Given the description of an element on the screen output the (x, y) to click on. 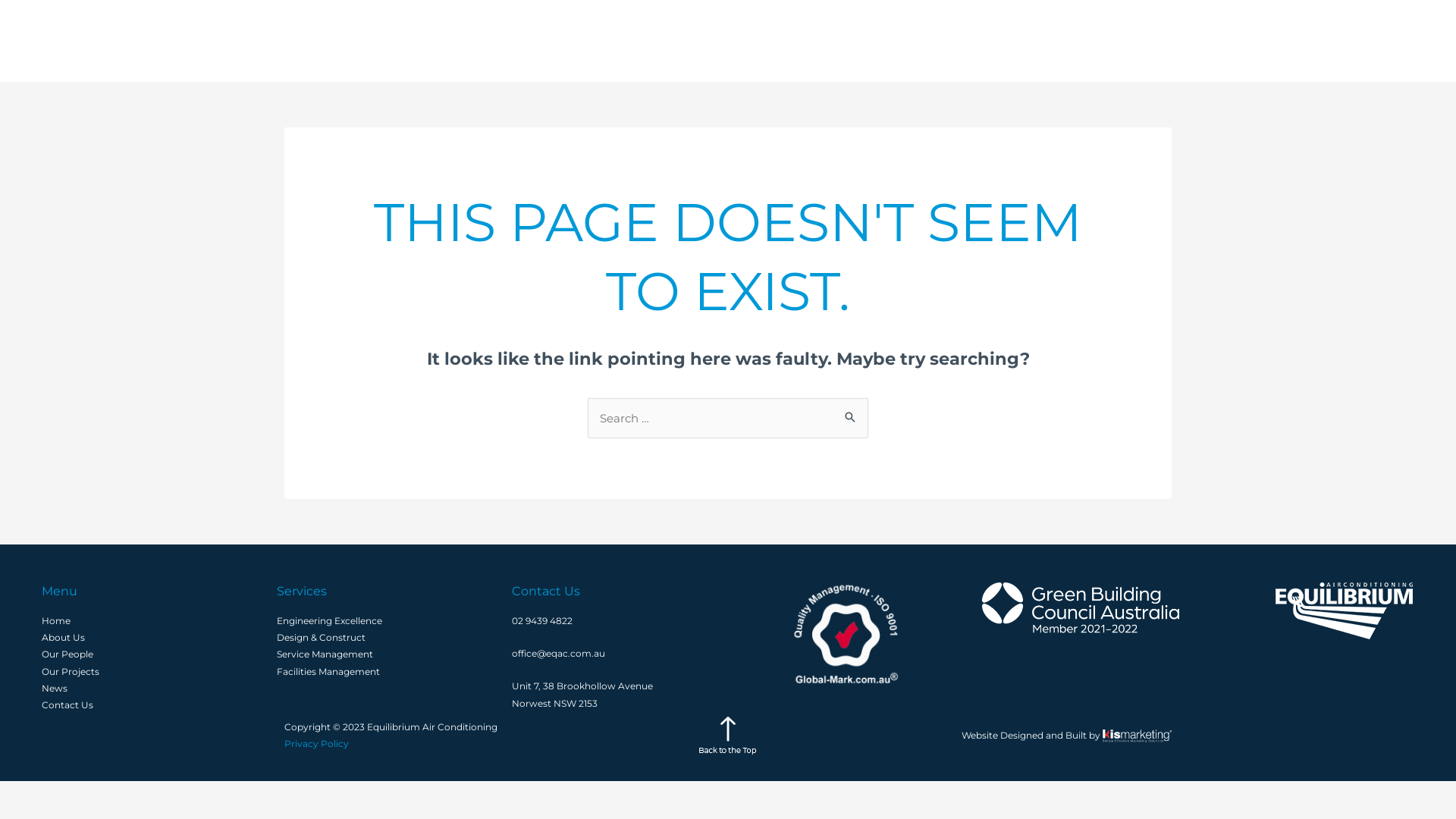
Service Management Element type: text (324, 653)
Unit 7, 38 Brookhollow Avenue Element type: text (581, 685)
News Element type: text (1285, 40)
Contact Us Element type: text (1354, 40)
office@eqac.com.au Element type: text (558, 652)
Our Projects Element type: text (1211, 40)
Search Element type: text (851, 416)
02 9439 4822 Element type: text (541, 620)
Our People Element type: text (1121, 40)
Facilities Management Element type: text (327, 671)
Home Element type: text (55, 620)
Our People Element type: text (67, 653)
About Us Element type: text (1040, 40)
Contact Us Element type: text (67, 704)
Home Element type: text (886, 40)
Engineering Excellence Element type: text (329, 620)
Privacy Policy Element type: text (316, 743)
Our Projects Element type: text (70, 671)
About Us Element type: text (62, 637)
We Offer Element type: text (959, 40)
News Element type: text (54, 687)
Design & Construct Element type: text (320, 637)
